Given the description of an element on the screen output the (x, y) to click on. 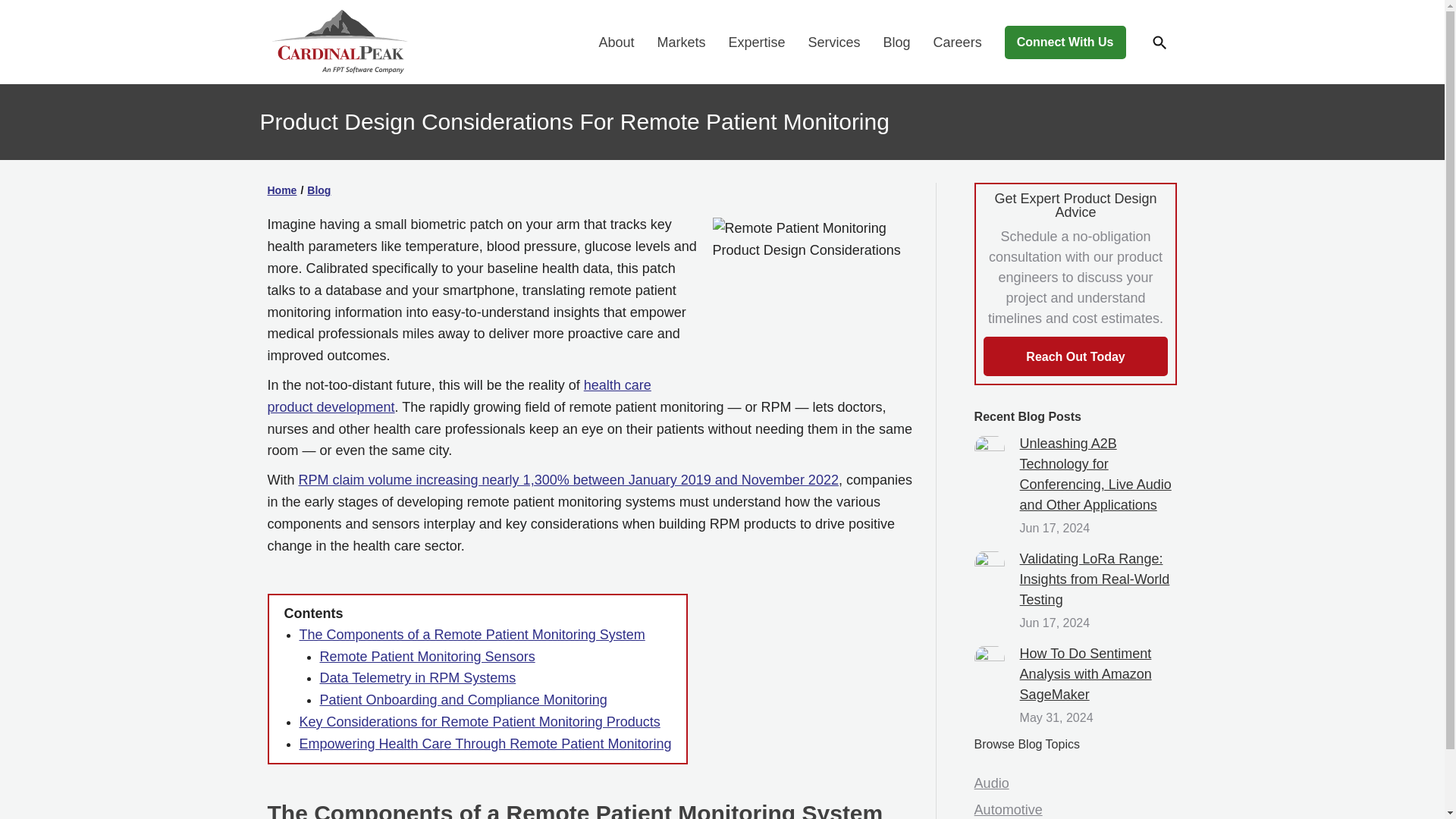
Expertise (756, 42)
Markets (680, 42)
About (615, 42)
Cardinal Peak Product Development Services Company (336, 69)
About Cardinal Peak (615, 42)
Cardinal Peak Product Development Services Company (338, 41)
